Given the description of an element on the screen output the (x, y) to click on. 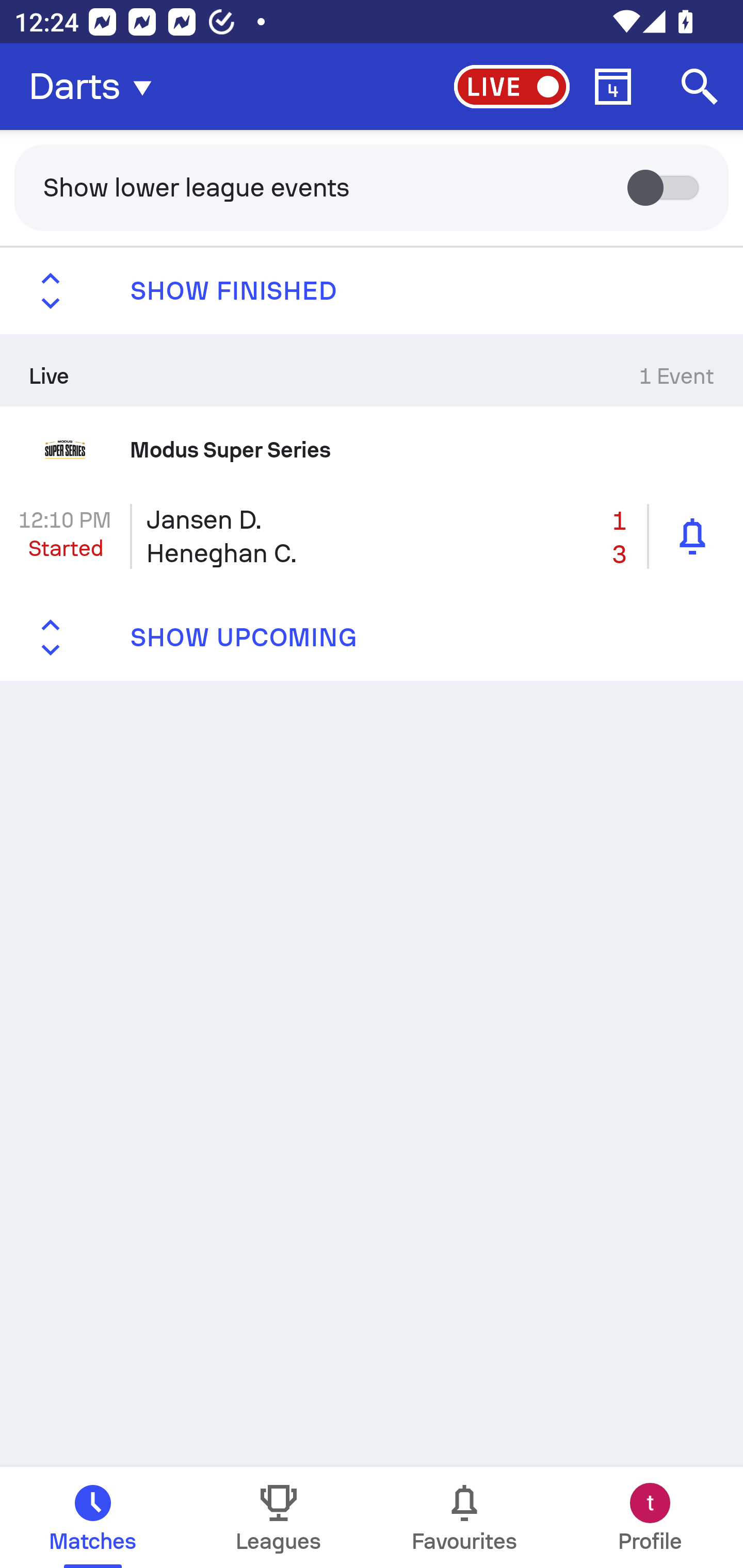
Darts (96, 86)
Calendar (612, 86)
Search (699, 86)
Show lower league events (371, 187)
SHOW FINISHED (371, 290)
Live 1 Event (371, 369)
Modus Super Series (371, 449)
12:10 PM Started Jansen D. 1 Heneghan C. 3 (371, 536)
SHOW UPCOMING (371, 637)
Leagues (278, 1517)
Favourites (464, 1517)
Profile (650, 1517)
